Given the description of an element on the screen output the (x, y) to click on. 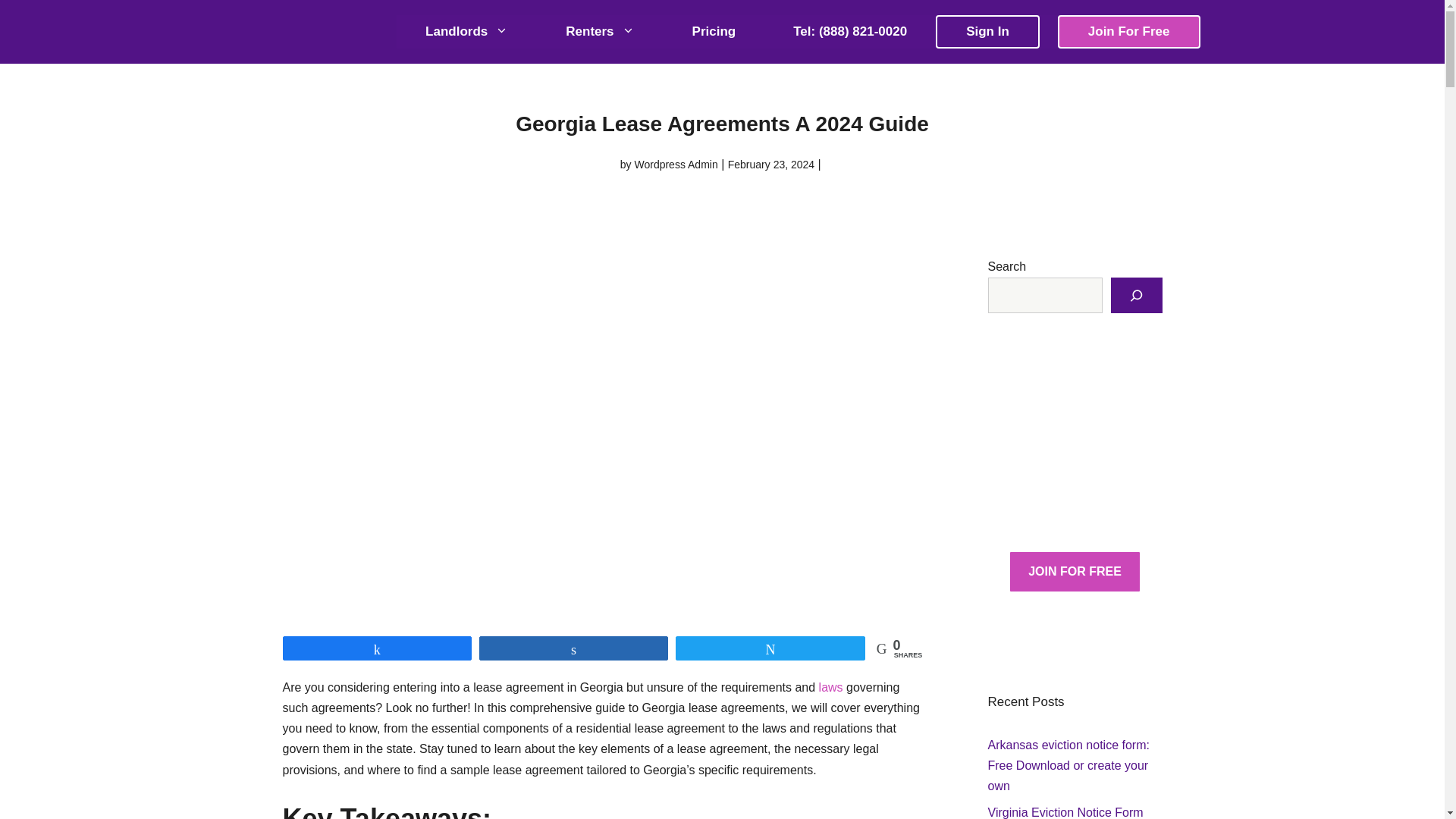
Sign In (987, 31)
Pricing (714, 31)
Landlords (466, 31)
laws (831, 686)
Renters (599, 31)
Join For Free (1128, 31)
